Given the description of an element on the screen output the (x, y) to click on. 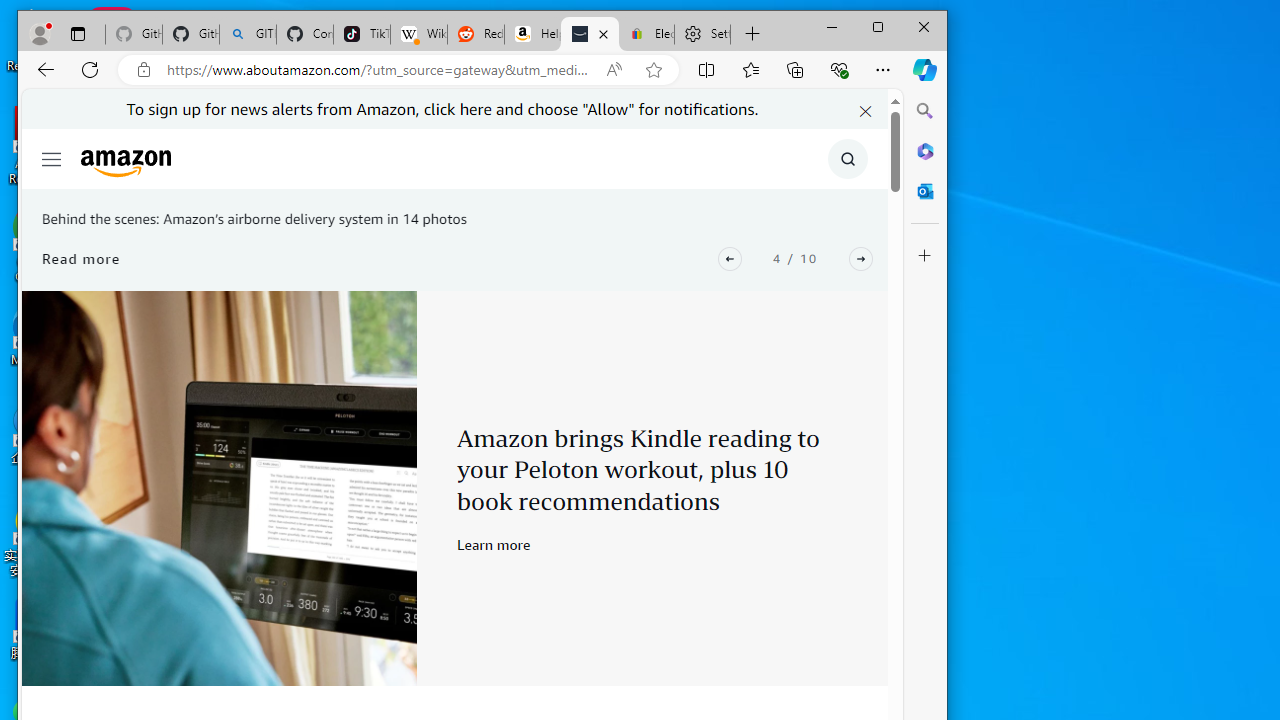
Minimize (831, 26)
Add this page to favorites (Ctrl+D) (653, 69)
Peloton x Kindle (219, 488)
Read aloud this page (Ctrl+Shift+U) (613, 69)
Class: icon-search (847, 159)
Back (45, 69)
Read more (81, 258)
Microsoft 365 (925, 151)
Refresh (90, 69)
App bar (482, 70)
Class: burger-menu (51, 159)
